Given the description of an element on the screen output the (x, y) to click on. 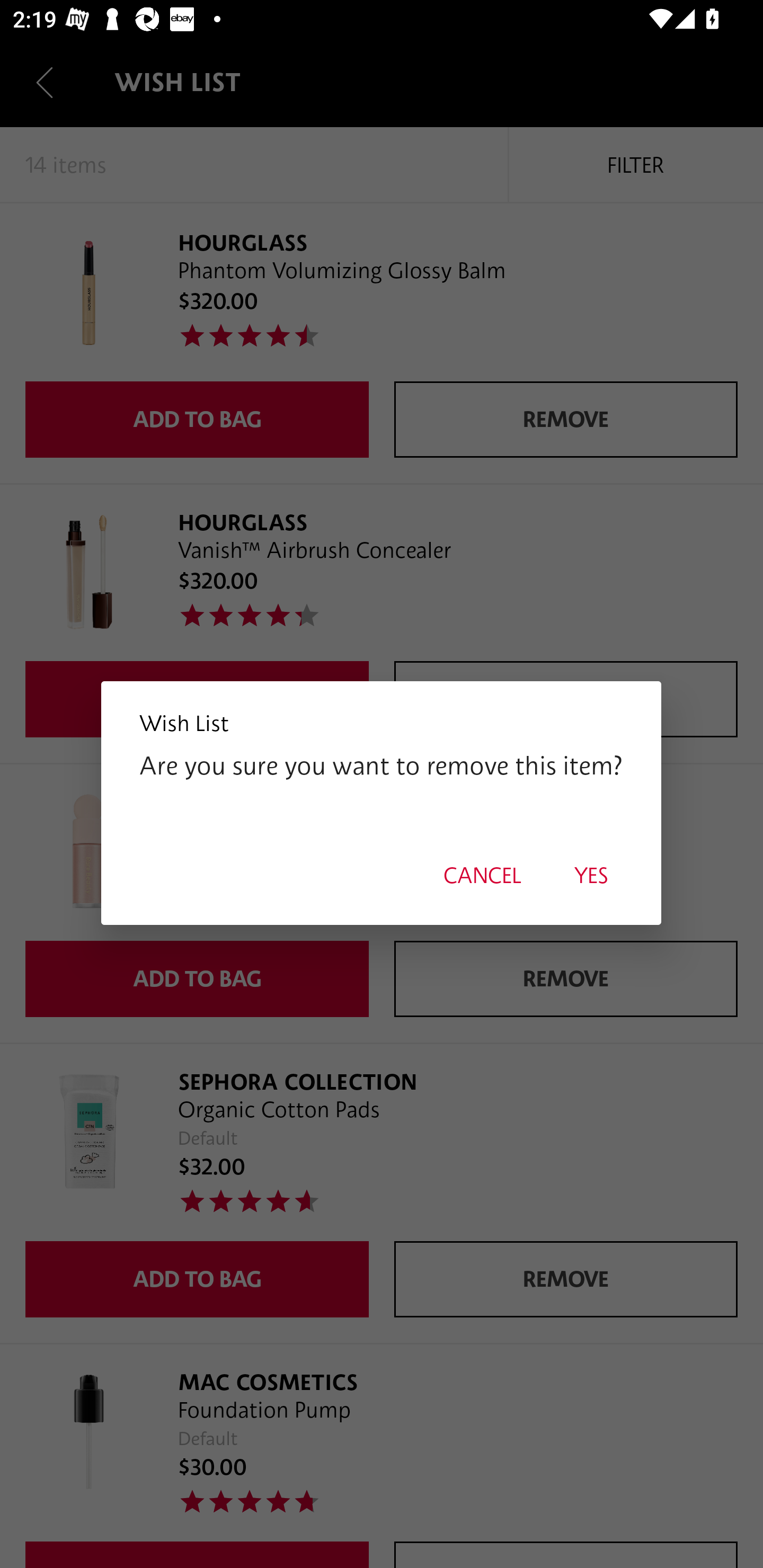
CANCEL (482, 875)
YES (591, 875)
